Given the description of an element on the screen output the (x, y) to click on. 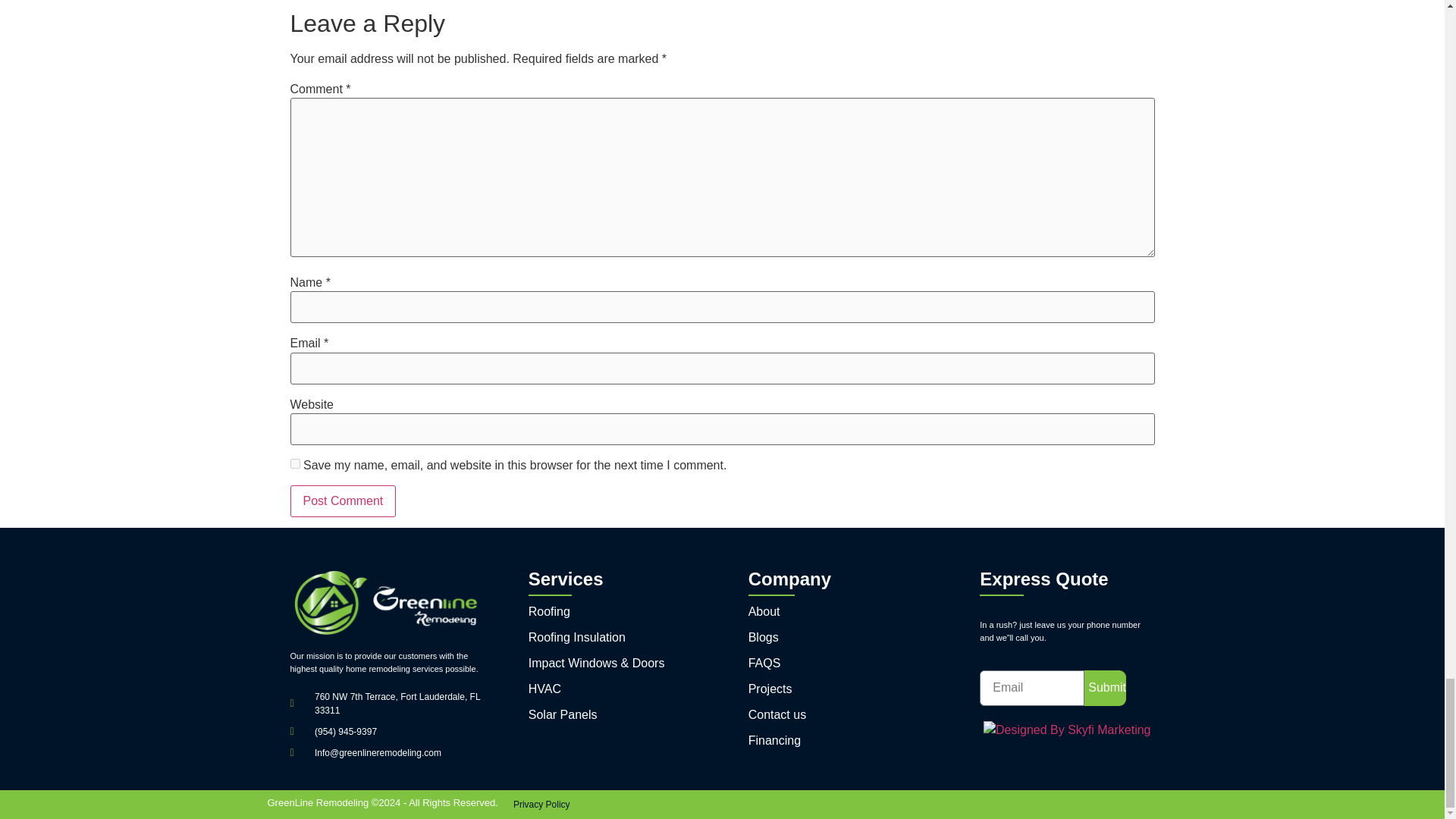
Designed By Skyfi Marketing (1067, 730)
yes (294, 463)
Post Comment (342, 500)
